Given the description of an element on the screen output the (x, y) to click on. 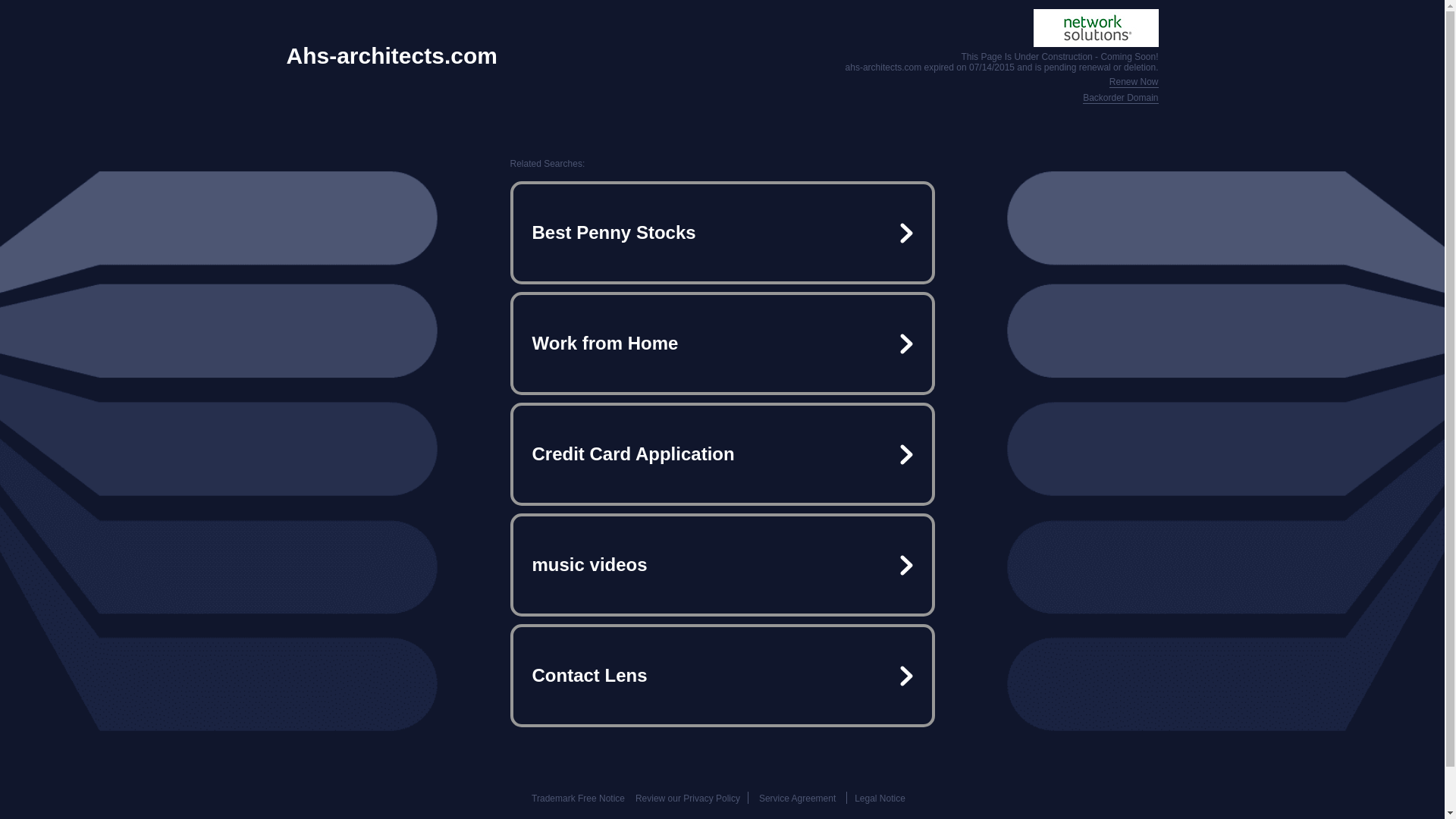
Ahs-architects.com (391, 55)
music videos (721, 564)
Contact Lens (721, 675)
Credit Card Application (721, 453)
Best Penny Stocks (721, 232)
Work from Home (721, 343)
Service Agreement (796, 798)
Backorder Domain (1120, 98)
Credit Card Application (721, 453)
Review our Privacy Policy (686, 798)
Legal Notice (879, 798)
Contact Lens (721, 675)
Trademark Free Notice (577, 798)
Renew Now (1133, 81)
music videos (721, 564)
